Given the description of an element on the screen output the (x, y) to click on. 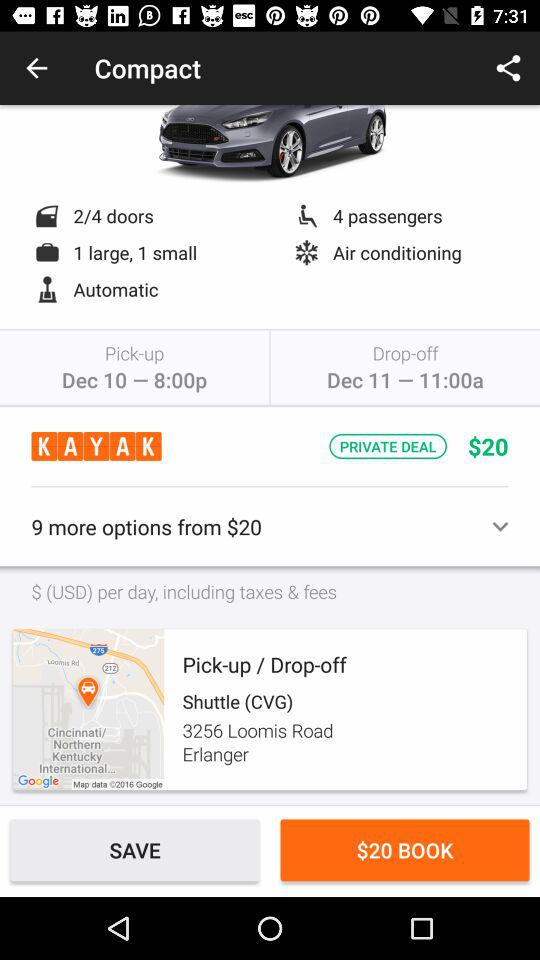
press icon above 4 passengers item (508, 67)
